Given the description of an element on the screen output the (x, y) to click on. 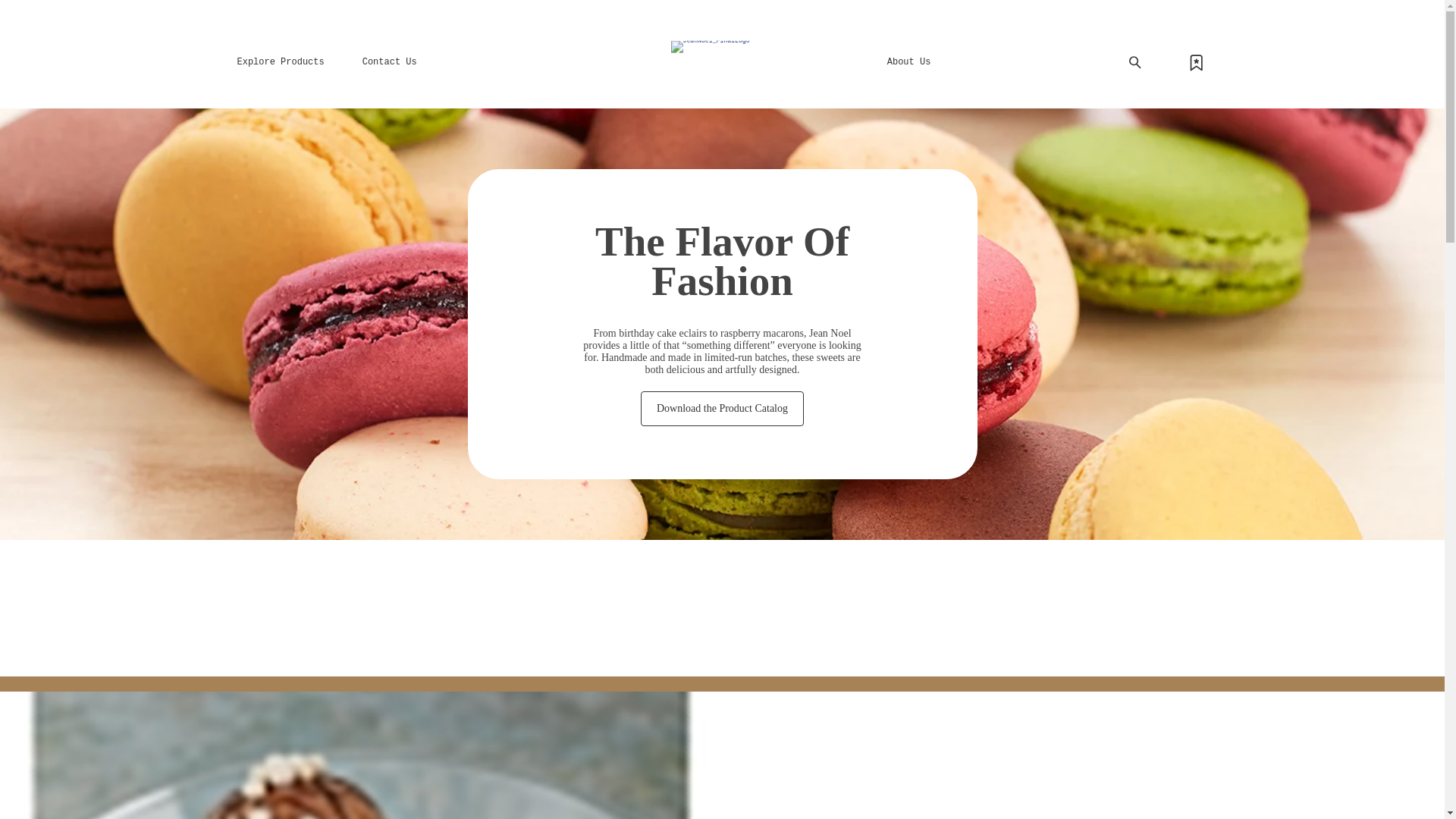
Explore Products (279, 61)
About Us (908, 61)
Contact Us (389, 61)
Download the Product Catalog (721, 408)
